Given the description of an element on the screen output the (x, y) to click on. 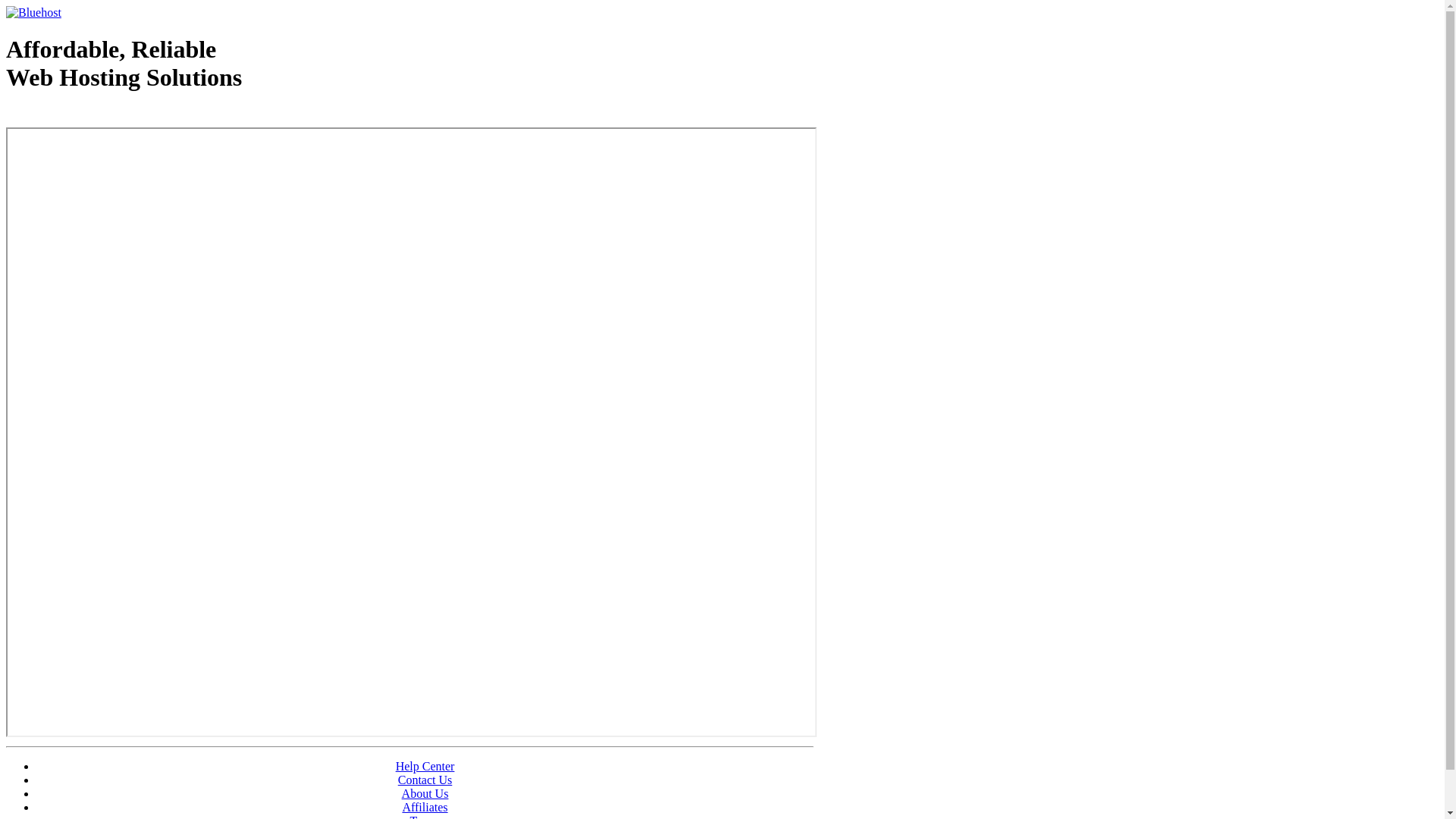
Affiliates Element type: text (424, 806)
About Us Element type: text (424, 793)
Web Hosting - courtesy of www.bluehost.com Element type: text (94, 115)
Help Center Element type: text (425, 765)
Contact Us Element type: text (425, 779)
